Given the description of an element on the screen output the (x, y) to click on. 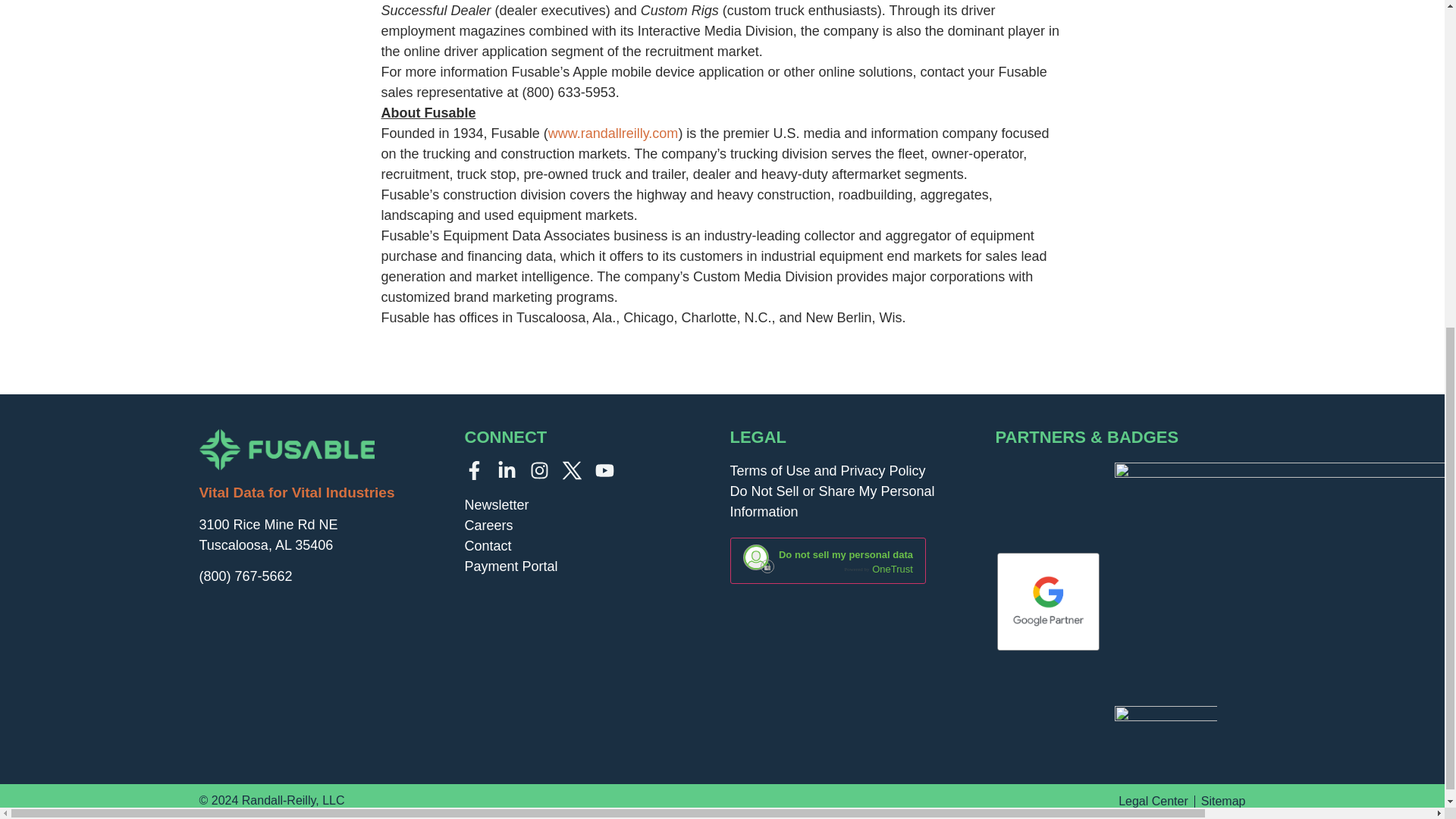
www.randallreilly.com (613, 133)
